Given the description of an element on the screen output the (x, y) to click on. 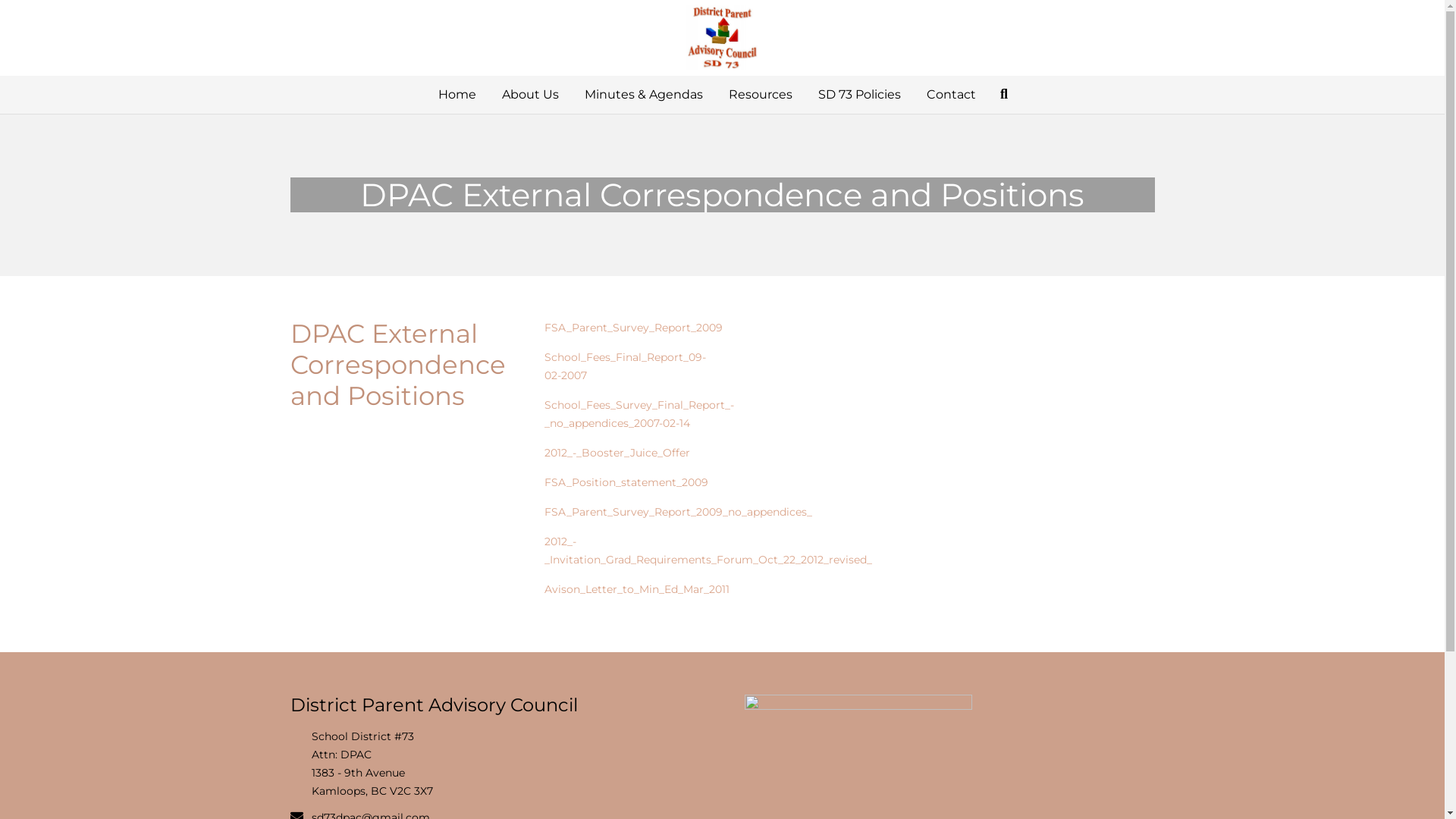
About Us Element type: text (530, 94)
School_Fees_Survey_Final_Report_-_no_appendices_2007-02-14 Element type: text (624, 413)
Home Element type: text (457, 94)
FSA_Position_statement_2009 Element type: text (611, 482)
Resources Element type: text (760, 94)
School_Fees_Final_Report_09-02-2007 Element type: text (610, 366)
Avison_Letter_to_Min_Ed_Mar_2011 Element type: text (621, 589)
2012_-_Booster_Juice_Offer Element type: text (602, 452)
Minutes & Agendas Element type: text (643, 94)
SD 73 Policies Element type: text (859, 94)
FSA_Parent_Survey_Report_2009_no_appendices_ Element type: text (663, 511)
Contact Element type: text (950, 94)
FSA_Parent_Survey_Report_2009 Element type: text (618, 327)
